Given the description of an element on the screen output the (x, y) to click on. 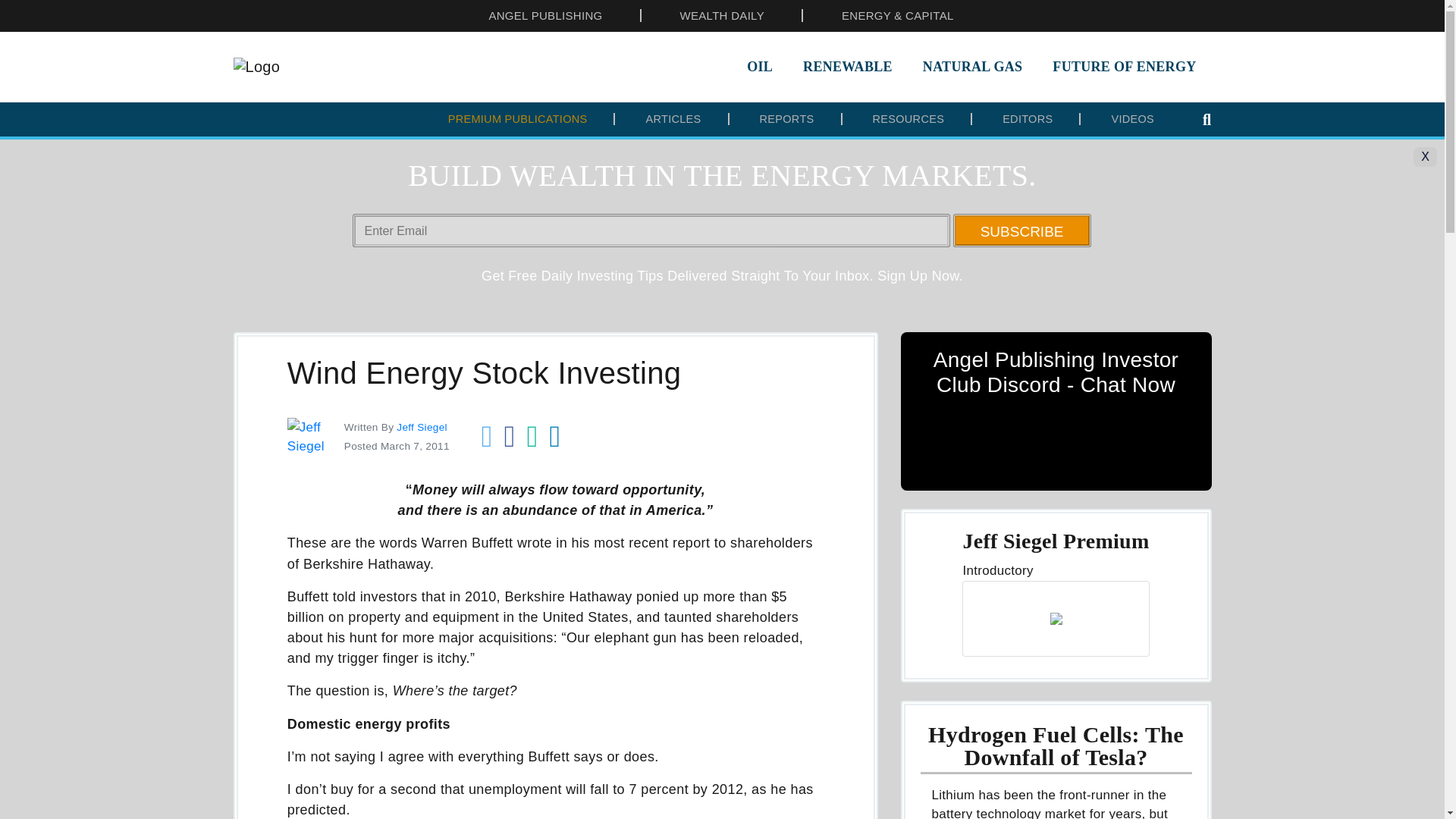
VIDEOS (1132, 119)
REPORTS (786, 119)
X (1425, 157)
ARTICLES (673, 119)
EDITORS (1027, 119)
FUTURE OF ENERGY (1123, 67)
ANGEL PUBLISHING (544, 15)
SUBSCRIBE (1022, 230)
RENEWABLE (847, 67)
NATURAL GAS (972, 67)
PREMIUM PUBLICATIONS (518, 119)
RESOURCES (908, 119)
Jeff Siegel (421, 427)
Angel Publishing Investor Club Discord - Chat Now (1056, 411)
WEALTH DAILY (721, 15)
